Given the description of an element on the screen output the (x, y) to click on. 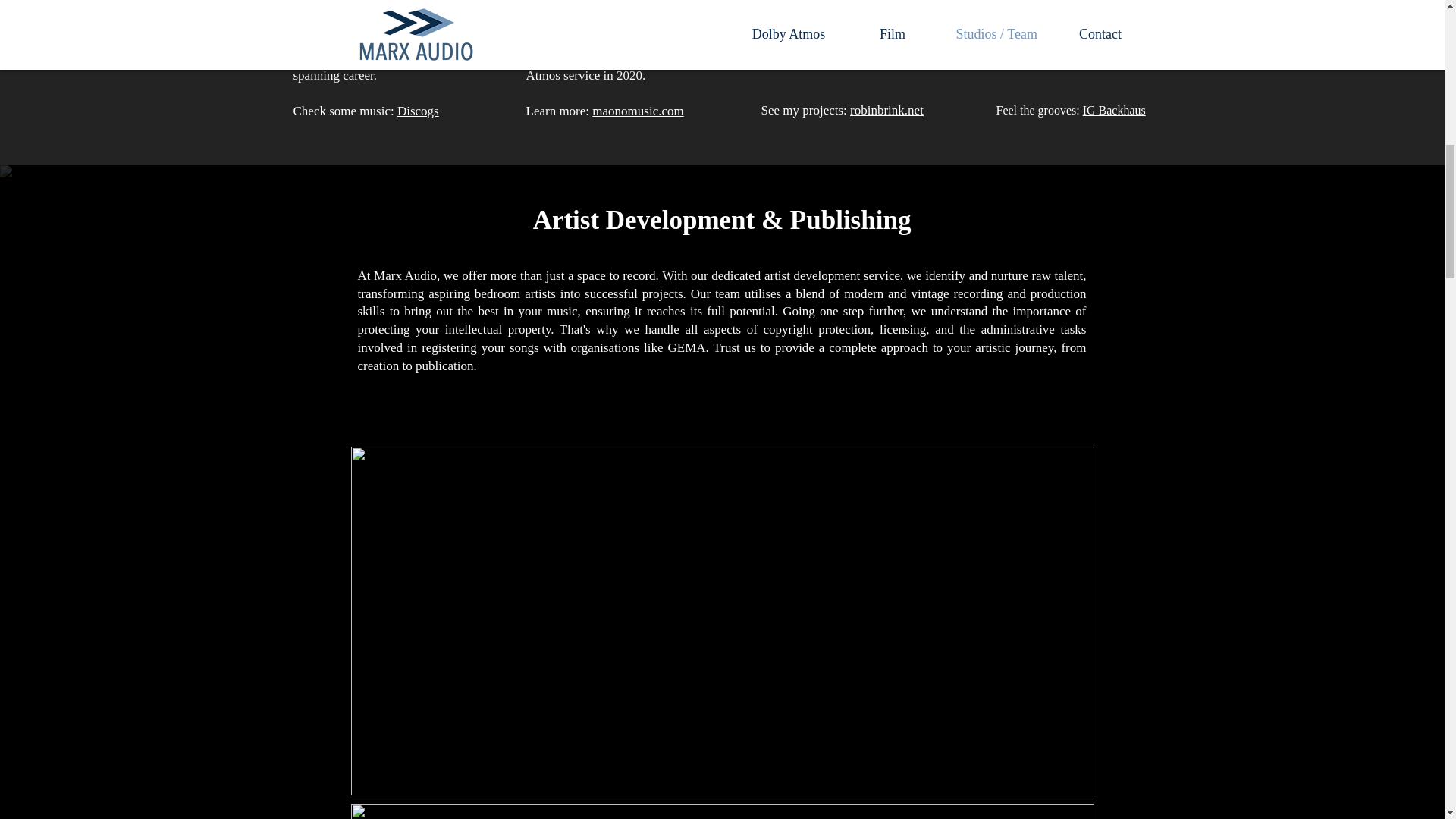
robinbrink.net (886, 110)
IG Backhaus (1114, 110)
maonomusic.com (637, 110)
Discogs (418, 110)
